Given the description of an element on the screen output the (x, y) to click on. 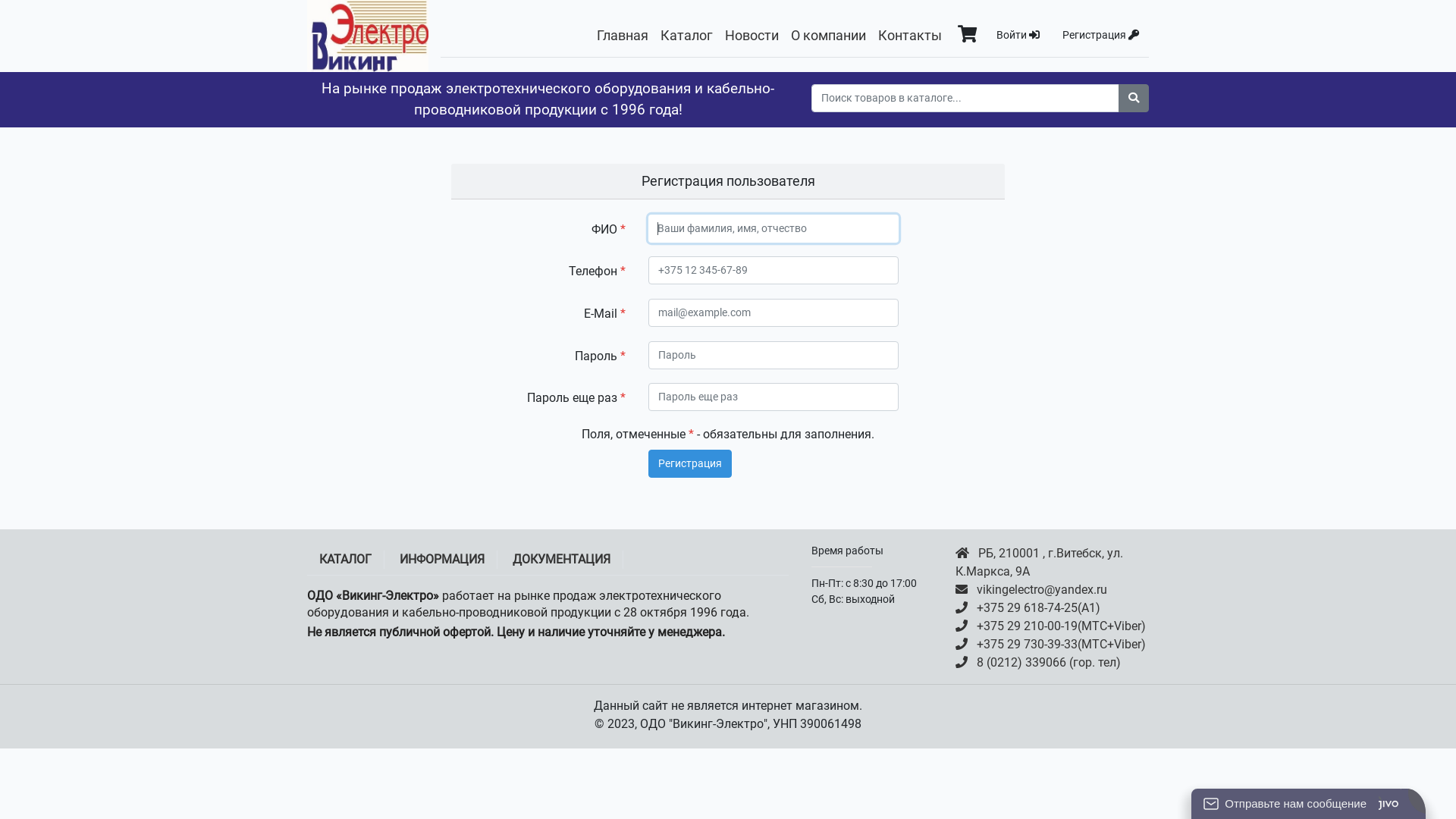
+375 29 618-74-25(A1) Element type: text (1051, 608)
vikingelectro@yandex.ru Element type: text (1051, 589)
